Given the description of an element on the screen output the (x, y) to click on. 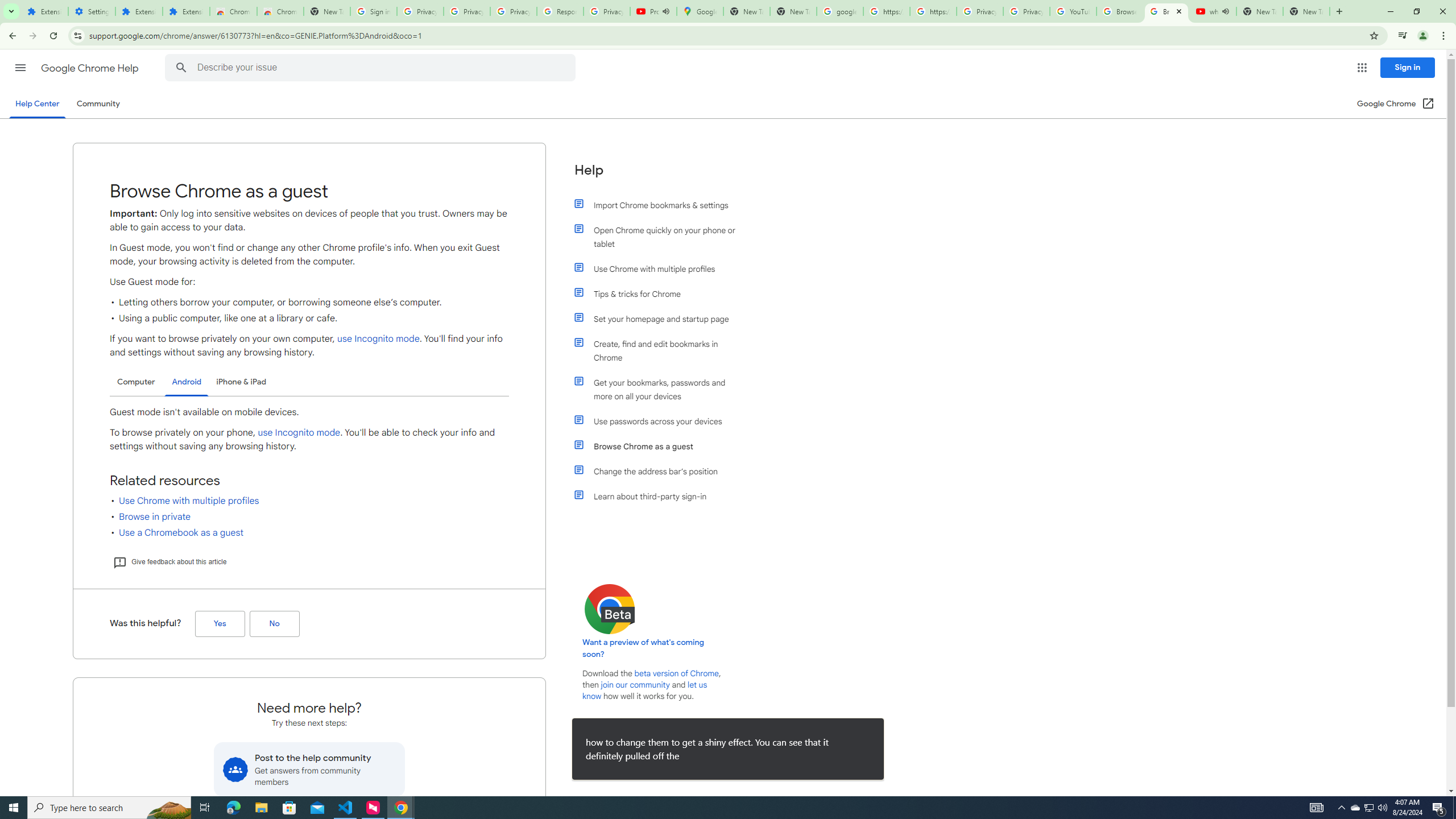
beta version of Chrome (676, 673)
Google Chrome Help (90, 68)
Community (97, 103)
Use a Chromebook as a guest (181, 532)
Main menu (20, 67)
https://scholar.google.com/ (933, 11)
Chrome Beta logo (609, 608)
Search Help Center (181, 67)
